Given the description of an element on the screen output the (x, y) to click on. 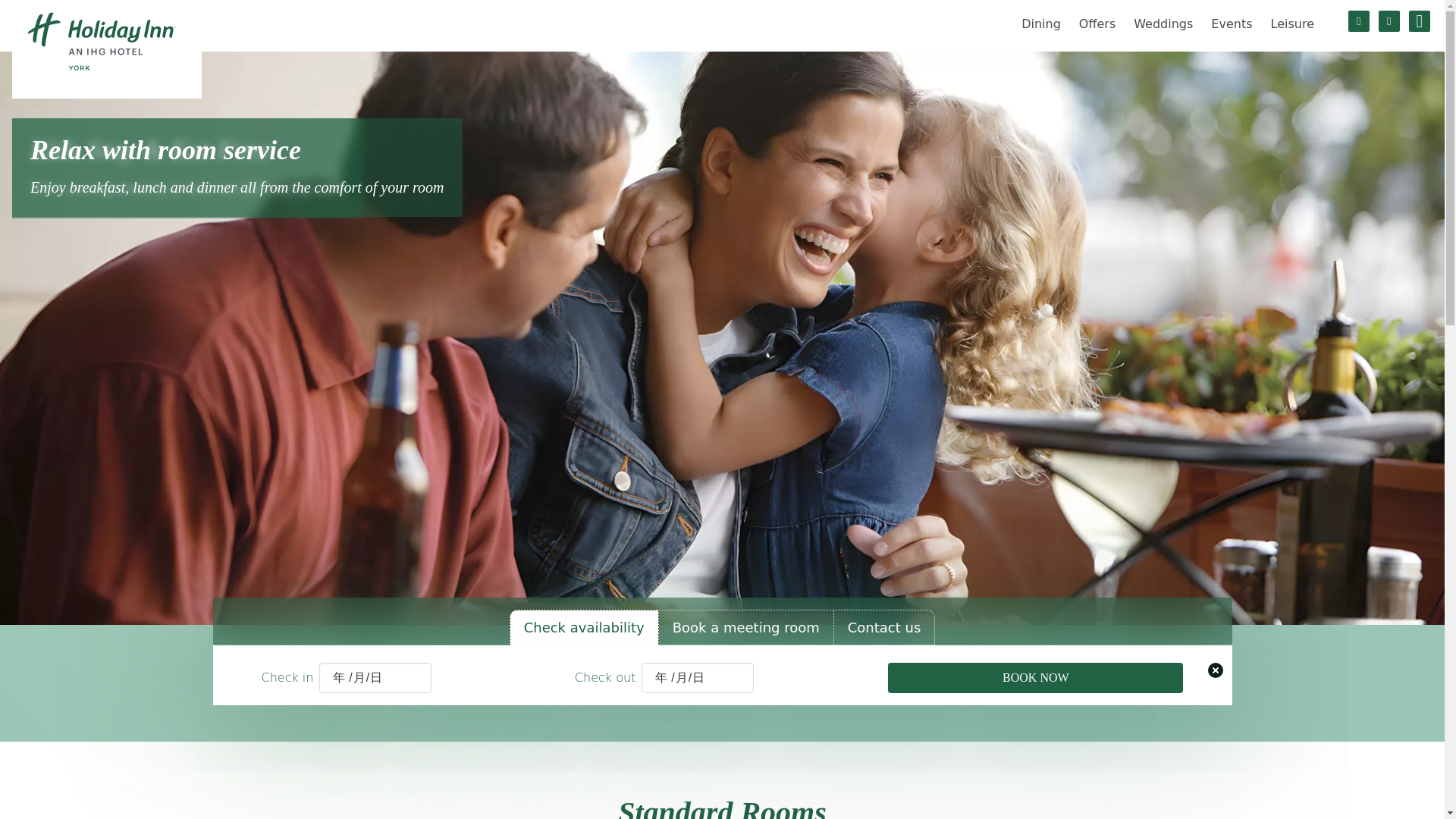
Dining (1040, 24)
Leisure (1292, 24)
Book a meeting room (746, 627)
Events (1231, 24)
Offers (1097, 24)
Weddings (1163, 24)
Check availability (584, 627)
Contact us (884, 627)
Book Now (1035, 677)
Book Now (1035, 677)
